Given the description of an element on the screen output the (x, y) to click on. 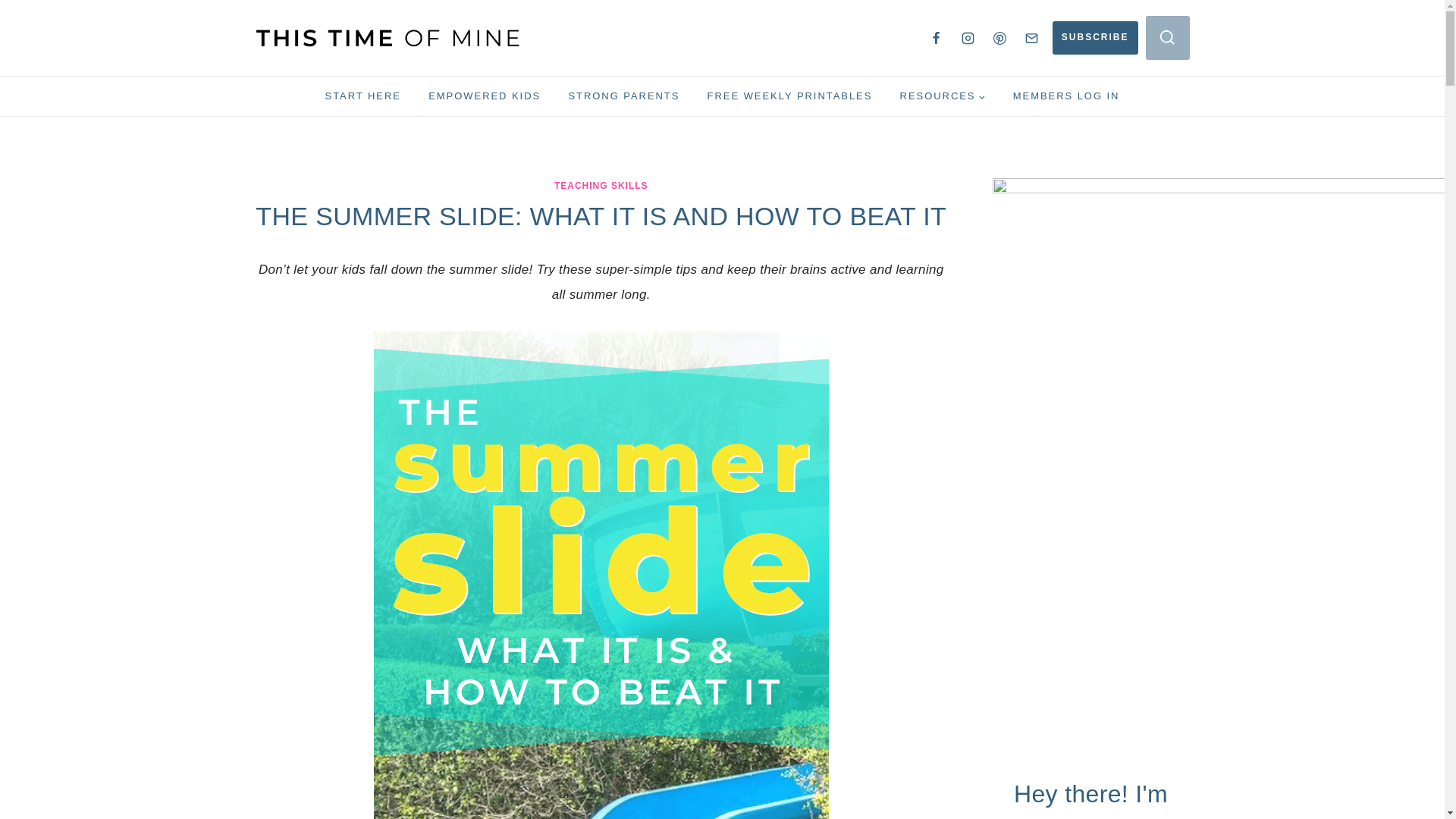
RESOURCES (941, 96)
SUBSCRIBE (1095, 37)
FREE WEEKLY PRINTABLES (789, 96)
TEACHING SKILLS (600, 185)
START HERE (362, 96)
EMPOWERED KIDS (484, 96)
STRONG PARENTS (623, 96)
MEMBERS LOG IN (1066, 96)
